Given the description of an element on the screen output the (x, y) to click on. 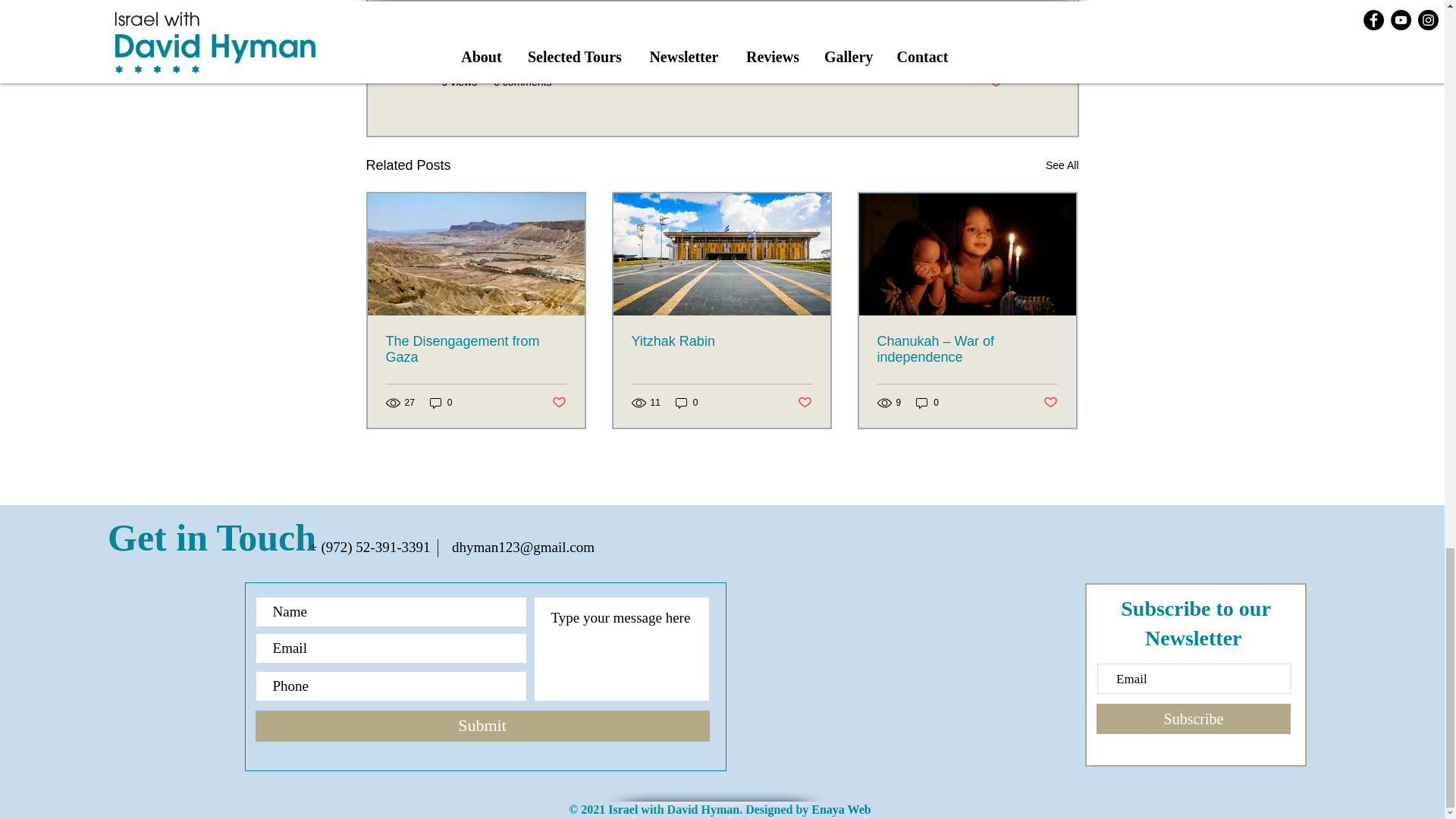
See All (1061, 165)
Post not marked as liked (995, 82)
Post not marked as liked (558, 402)
Post not marked as liked (804, 402)
Post not marked as liked (1050, 402)
0 (687, 402)
0 (927, 402)
Yitzhak Rabin (720, 341)
Submit (483, 726)
The Disengagement from Gaza (475, 349)
